Given the description of an element on the screen output the (x, y) to click on. 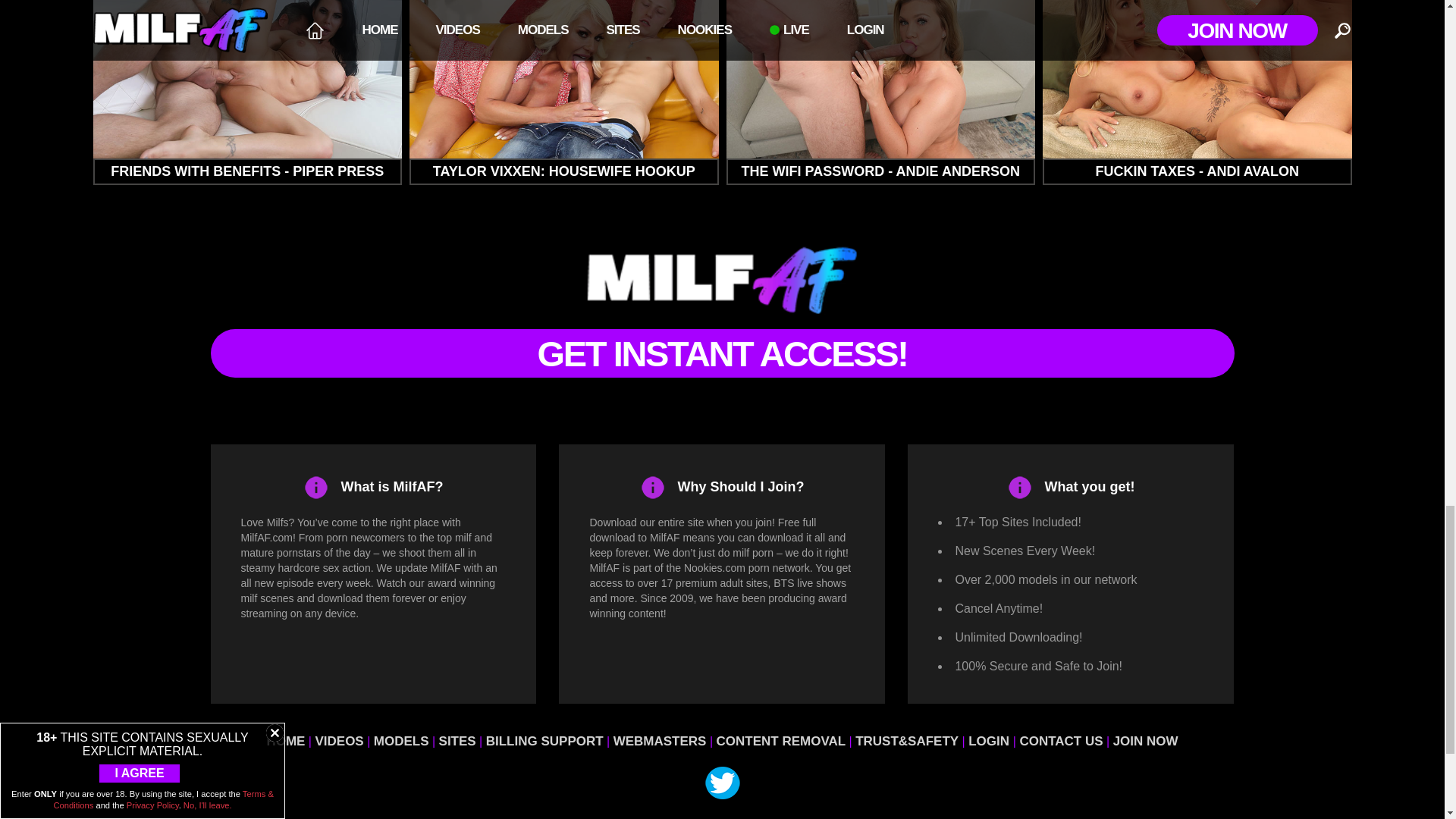
Watch TAYLOR VIXXEN: HOUSEWIFE HOOKUP at milfAF (564, 92)
THE WIFI PASSWORD - ANDIE ANDERSON (880, 92)
FUCKIN TAXES - ANDI AVALON (1197, 92)
FRIENDS WITH BENEFITS - PIPER PRESS (247, 92)
TAYLOR VIXXEN: HOUSEWIFE HOOKUP (564, 92)
Watch THE WIFI PASSWORD - ANDIE ANDERSON at milfAF (880, 92)
Watch FUCKIN TAXES - ANDI AVALON at milfAF (1197, 92)
Watch FRIENDS WITH BENEFITS - PIPER PRESS at milfAF (247, 92)
